Given the description of an element on the screen output the (x, y) to click on. 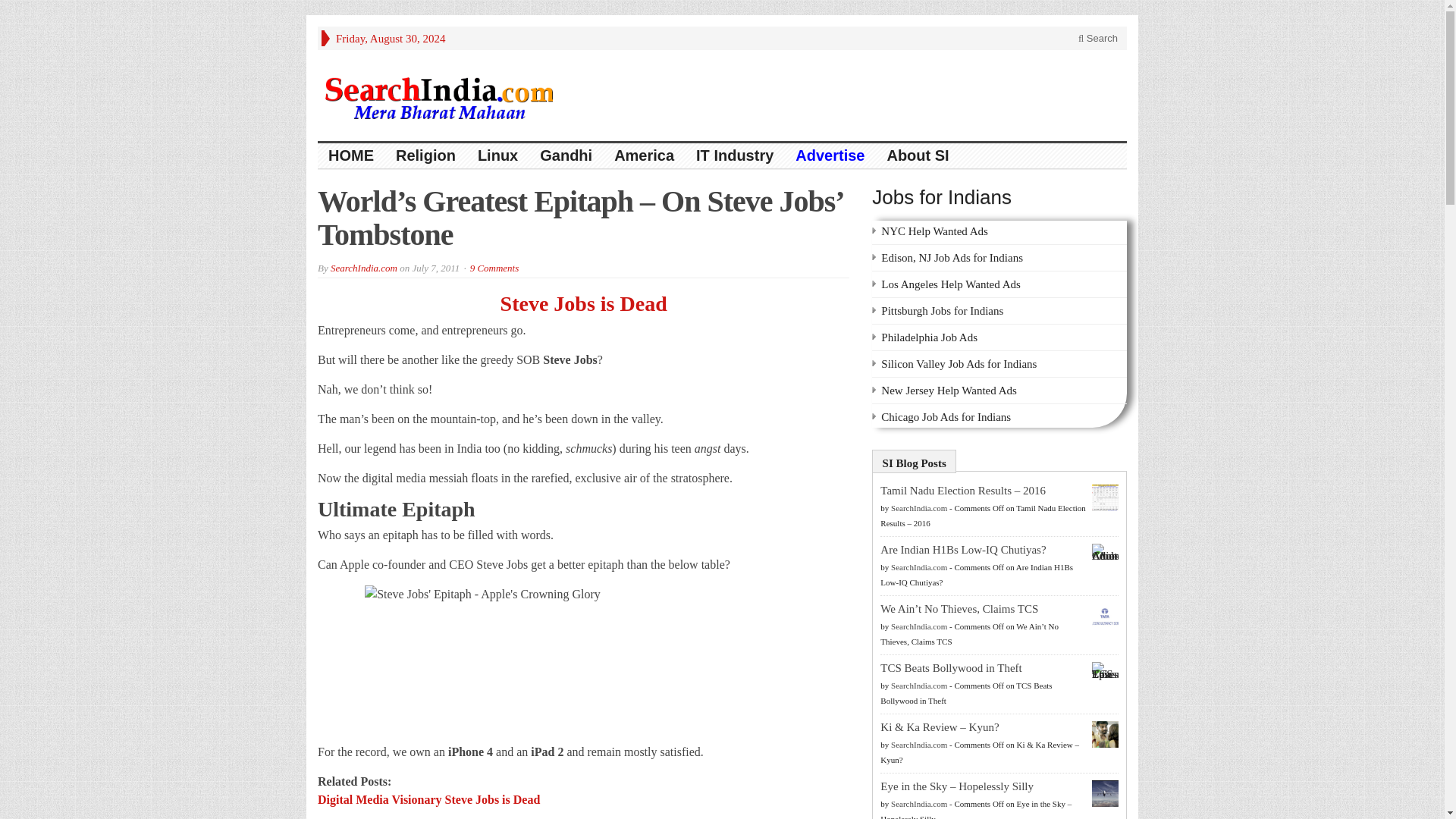
Linux (498, 155)
About SI (917, 155)
Posts by SearchIndia.com (919, 566)
Advertise (830, 155)
Posts by SearchIndia.com (919, 507)
Search (1097, 37)
Steve Jobs is Dead (583, 303)
Permalink to TCS Beats Bollywood in Theft (951, 667)
America (644, 155)
IT Industry (734, 155)
